Given the description of an element on the screen output the (x, y) to click on. 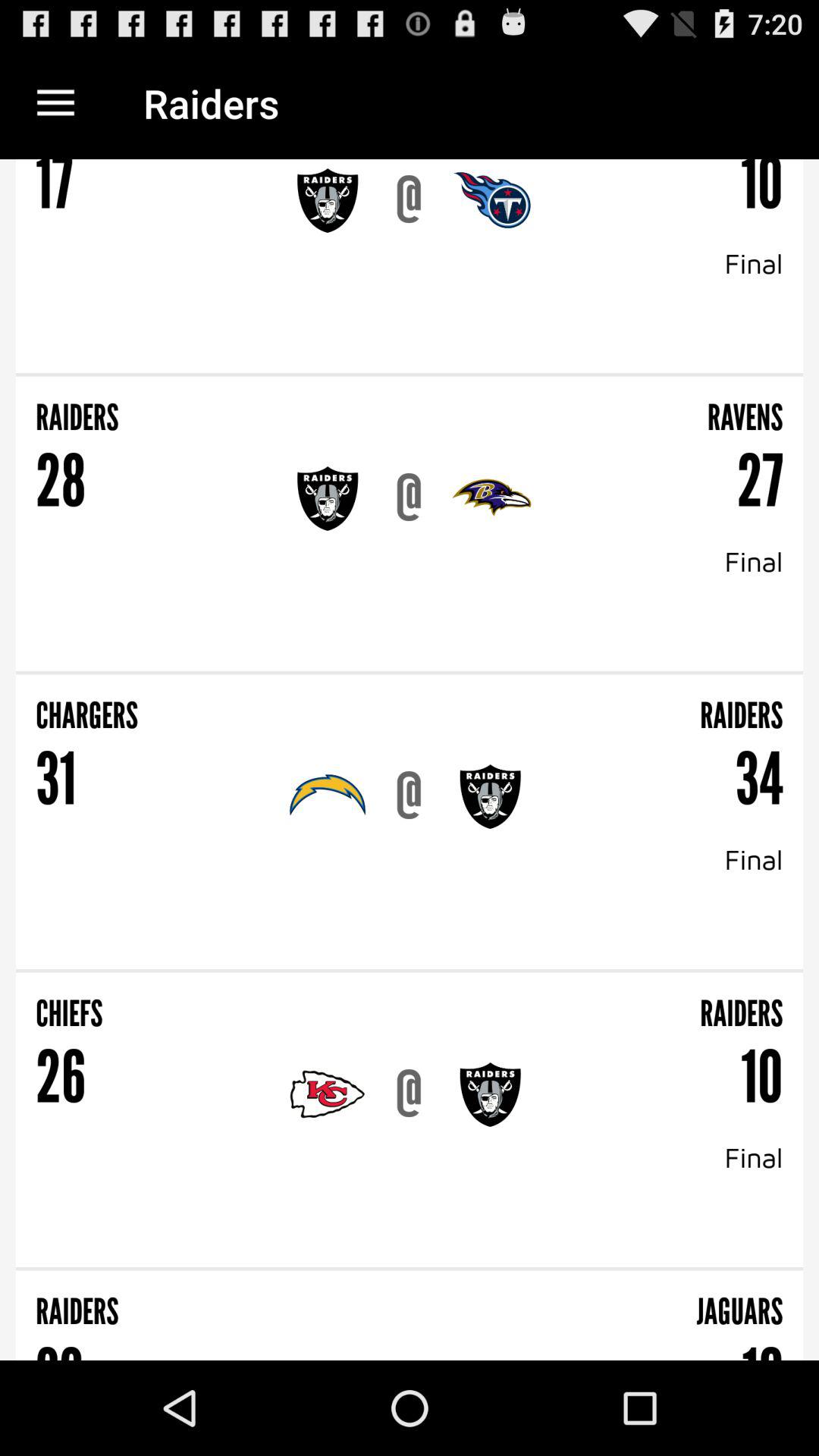
turn on the 34 (759, 779)
